Given the description of an element on the screen output the (x, y) to click on. 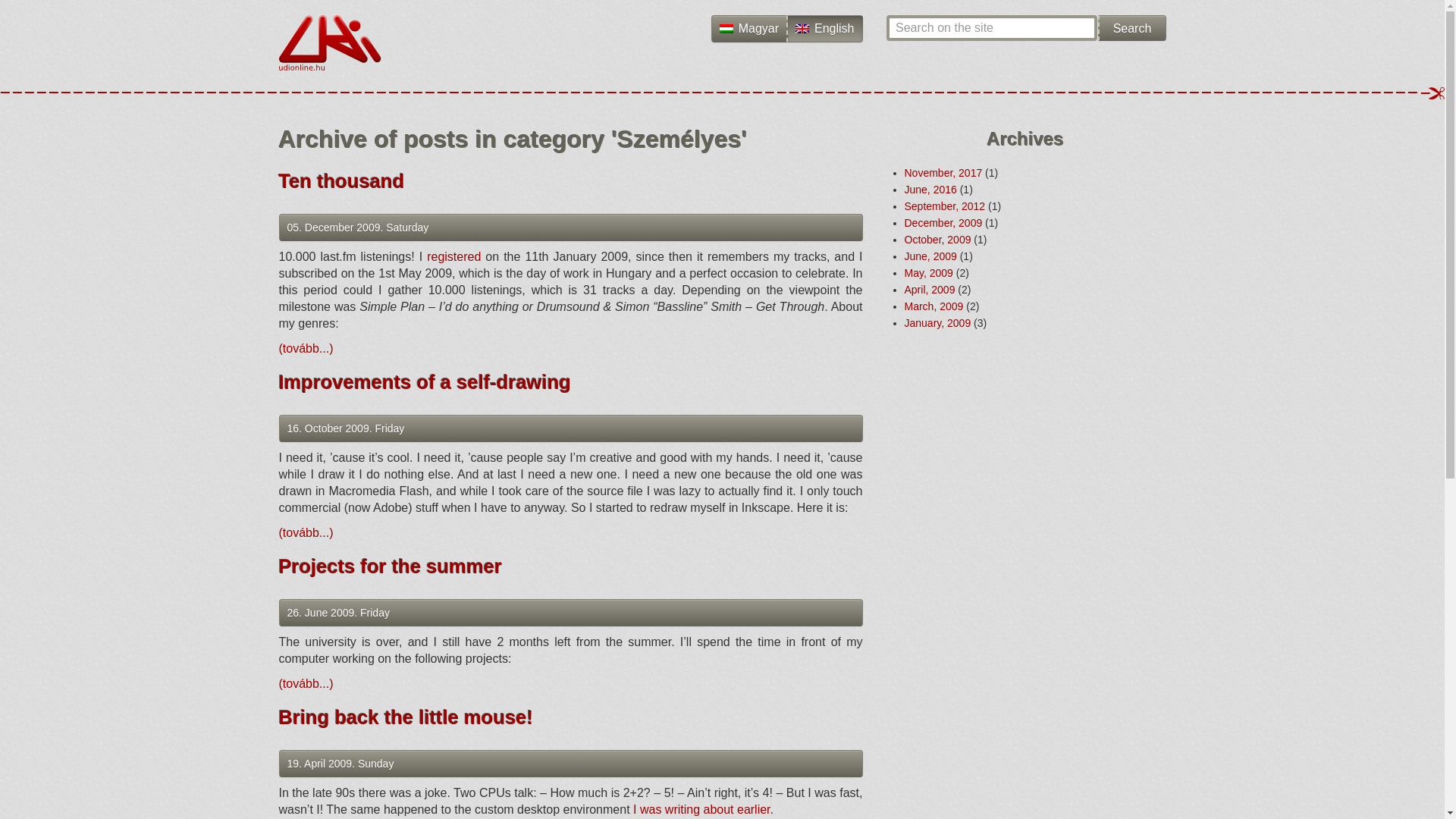
I was writing about earlier (701, 809)
December, 2009 (942, 223)
Magyar (748, 28)
May, 2009 (928, 272)
November, 2017 (942, 173)
April, 2009 (929, 289)
March, 2009 (933, 306)
June, 2009 (930, 256)
October, 2009 (937, 239)
English (823, 28)
registered (453, 256)
Improvements of a self-drawing (424, 382)
June, 2016 (930, 189)
Projects for the summer (390, 566)
Bring back the little mouse! (406, 717)
